Given the description of an element on the screen output the (x, y) to click on. 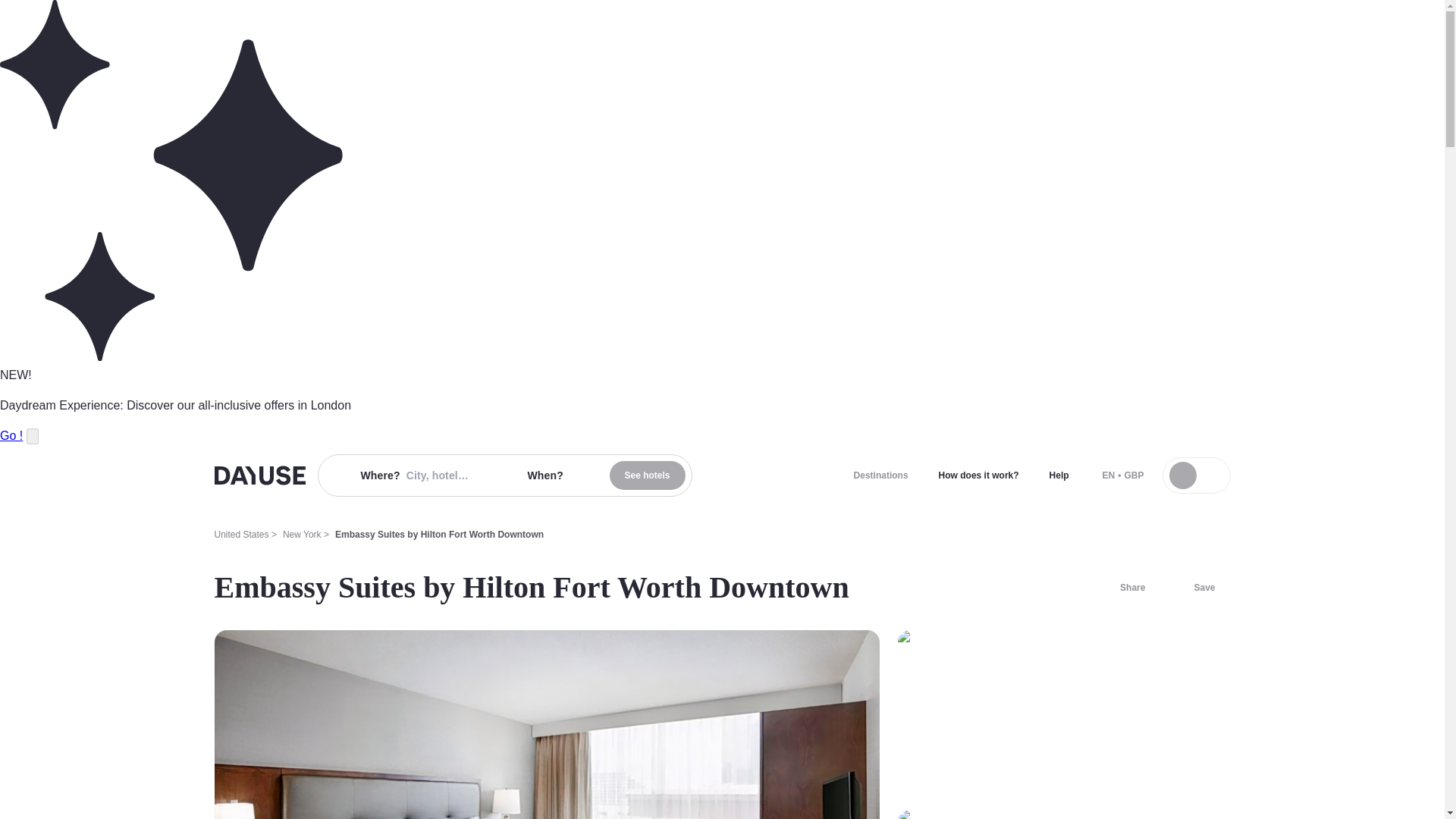
See hotels (647, 475)
Save (1195, 587)
United States (240, 534)
Help (1058, 474)
Share (1123, 587)
How does it work? (978, 474)
Destinations (880, 474)
Dayuse (259, 475)
New York (301, 534)
